Given the description of an element on the screen output the (x, y) to click on. 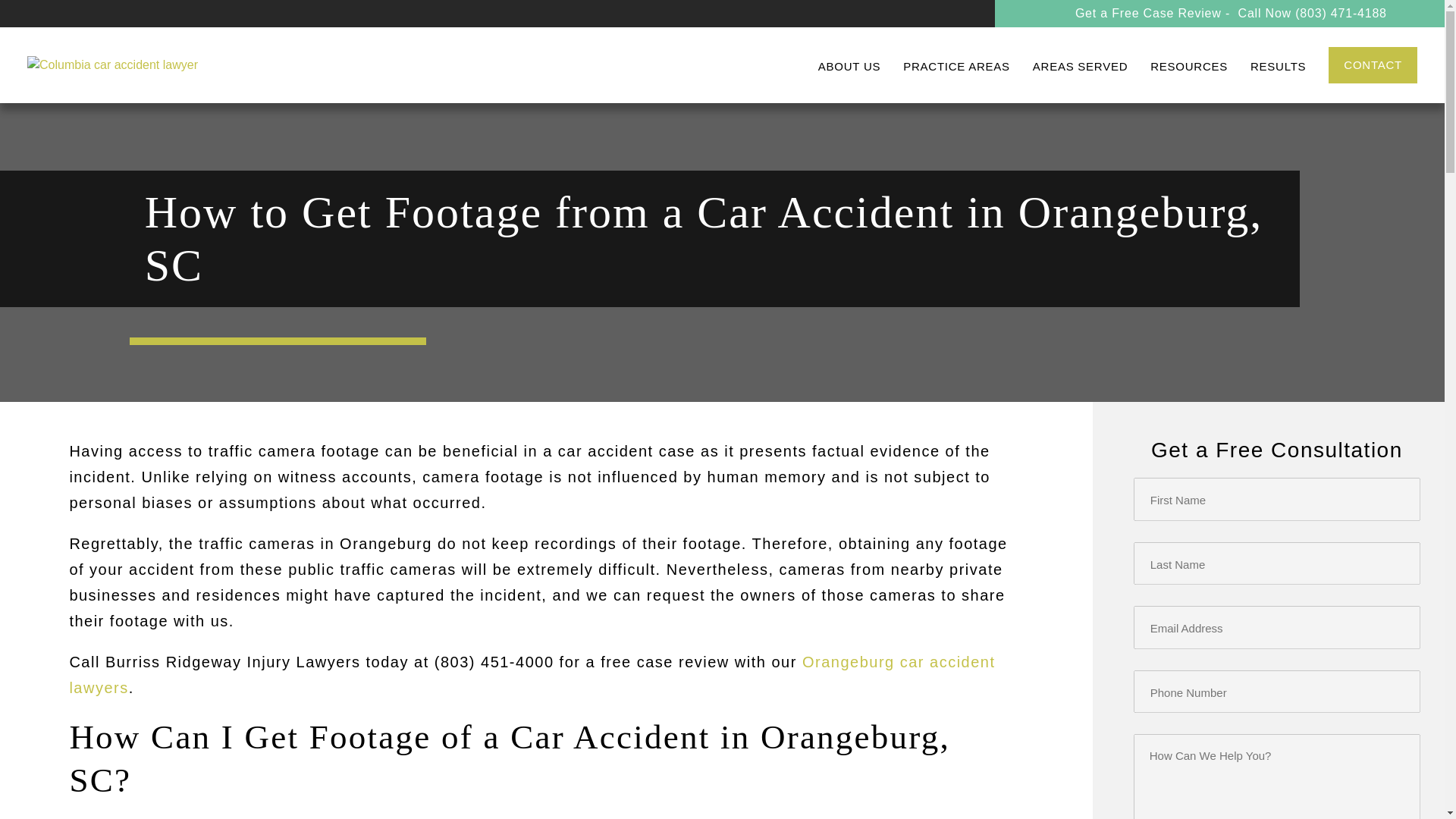
ABOUT US (849, 65)
AREAS SERVED (1079, 65)
PRACTICE AREAS (956, 65)
